Given the description of an element on the screen output the (x, y) to click on. 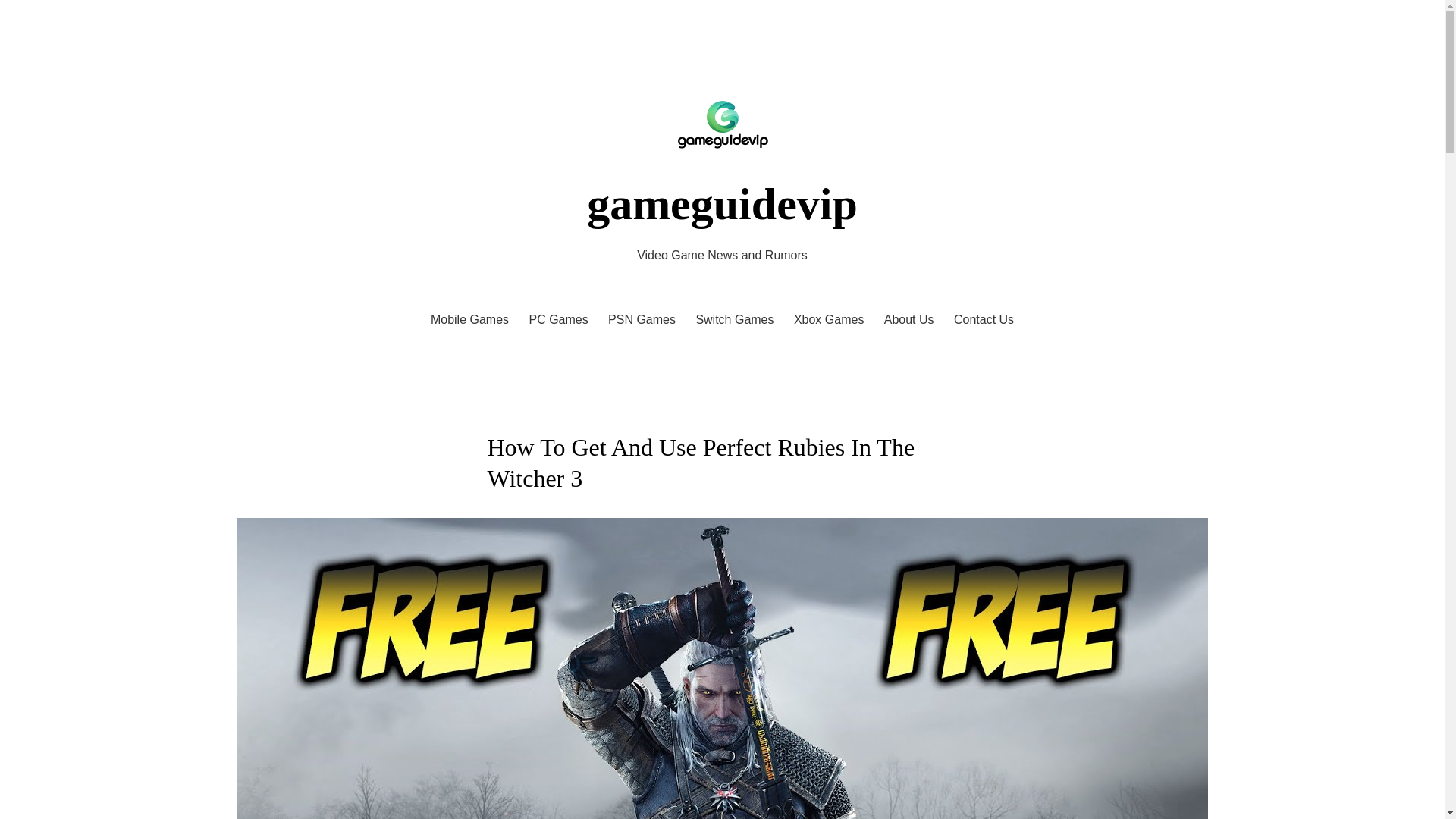
Contact Us (983, 319)
About Us (908, 319)
Switch Games (734, 319)
gameguidevip (721, 204)
PSN Games (641, 319)
PC Games (558, 319)
Xbox Games (828, 319)
Mobile Games (469, 319)
